Given the description of an element on the screen output the (x, y) to click on. 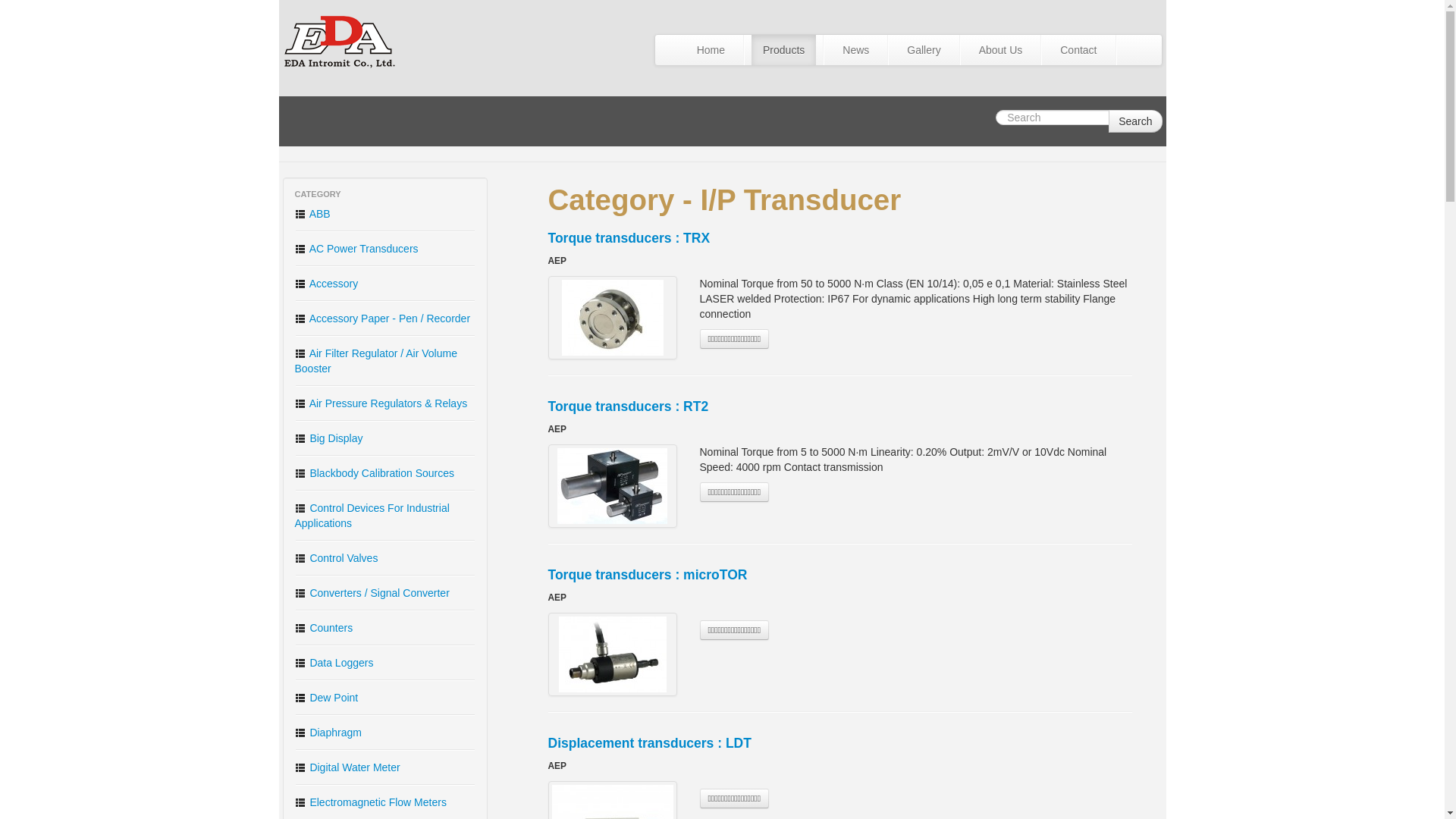
Electromagnetic Flow Meters (384, 802)
View Category - Dew Point (384, 697)
Search (1134, 120)
View Category - Big Display (384, 437)
View Category - Blackbody Calibration Sources (384, 473)
Dew Point (384, 697)
View Category - Control Valves (384, 557)
View Category - Control Devices For Industrial Applications (384, 515)
Big Display (384, 437)
View Category - Accessory (384, 283)
View Category - ABB (384, 213)
Home (710, 50)
Blackbody Calibration Sources (384, 473)
View Category - Digital Water Meter (384, 767)
News (855, 50)
